Given the description of an element on the screen output the (x, y) to click on. 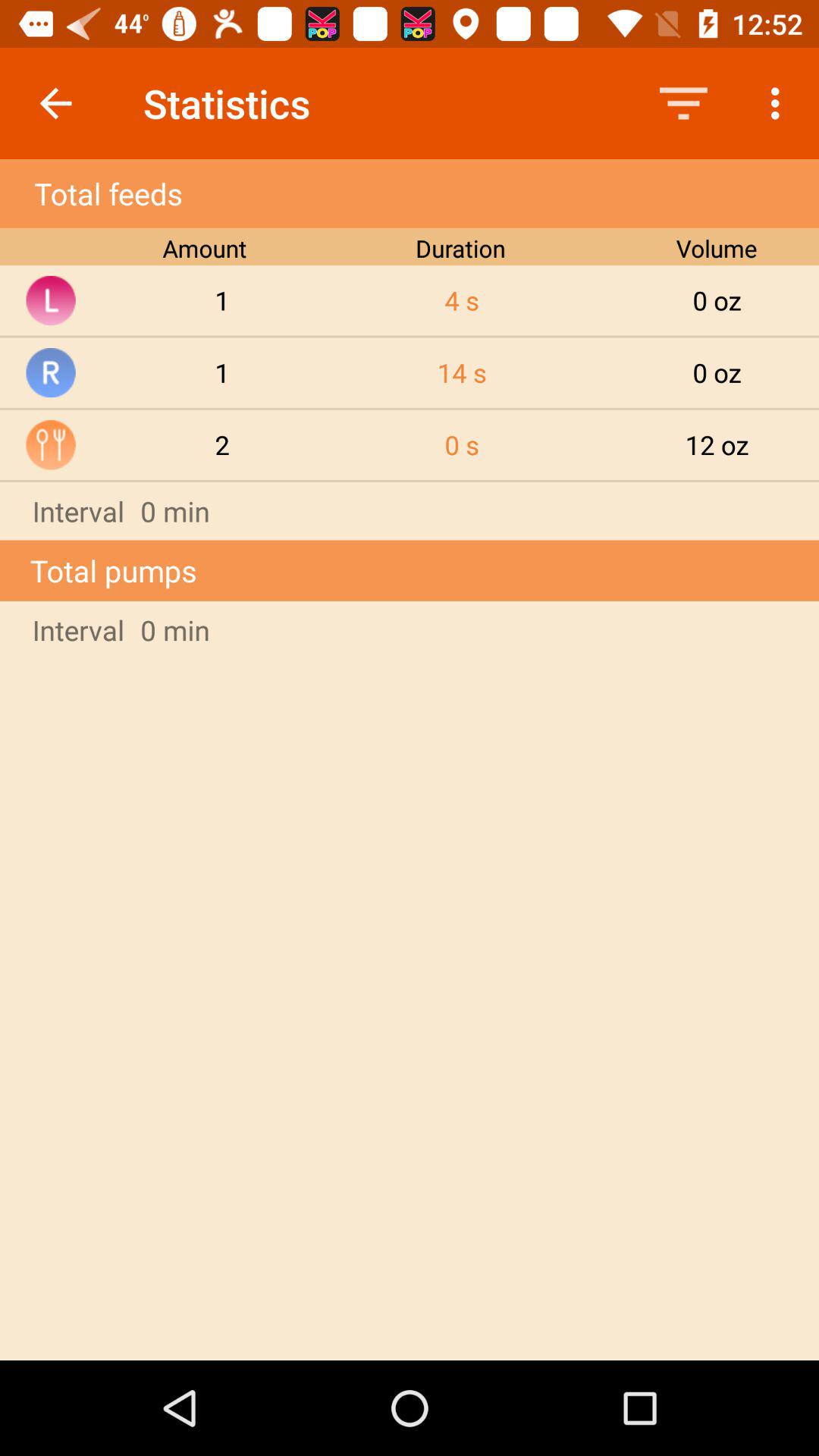
launch item next to the 0 oz item (461, 372)
